Given the description of an element on the screen output the (x, y) to click on. 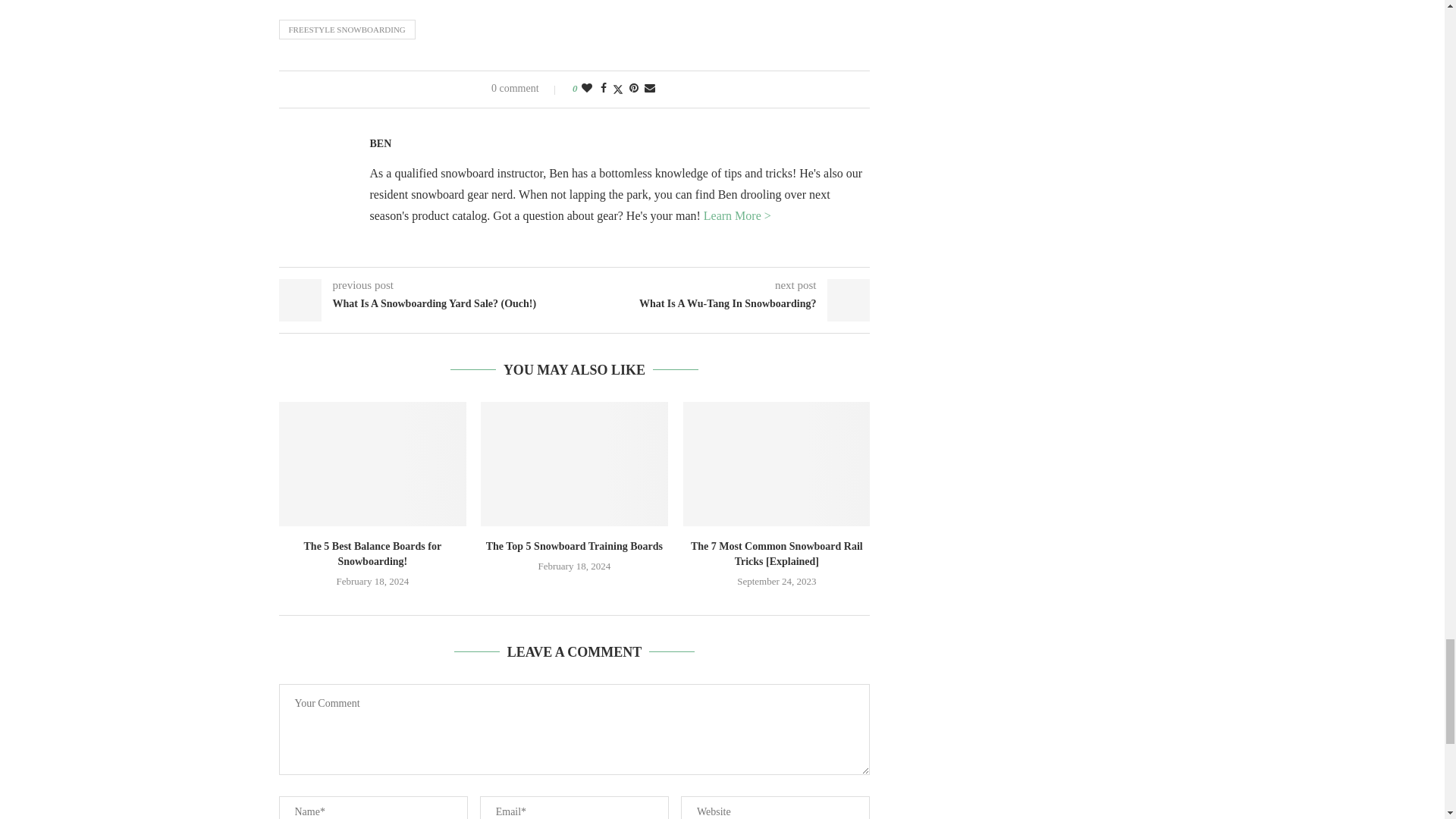
Author Ben (380, 144)
The 5 Best Balance Boards for Snowboarding! (372, 464)
The Top 5 Snowboard Training Boards (574, 464)
